Given the description of an element on the screen output the (x, y) to click on. 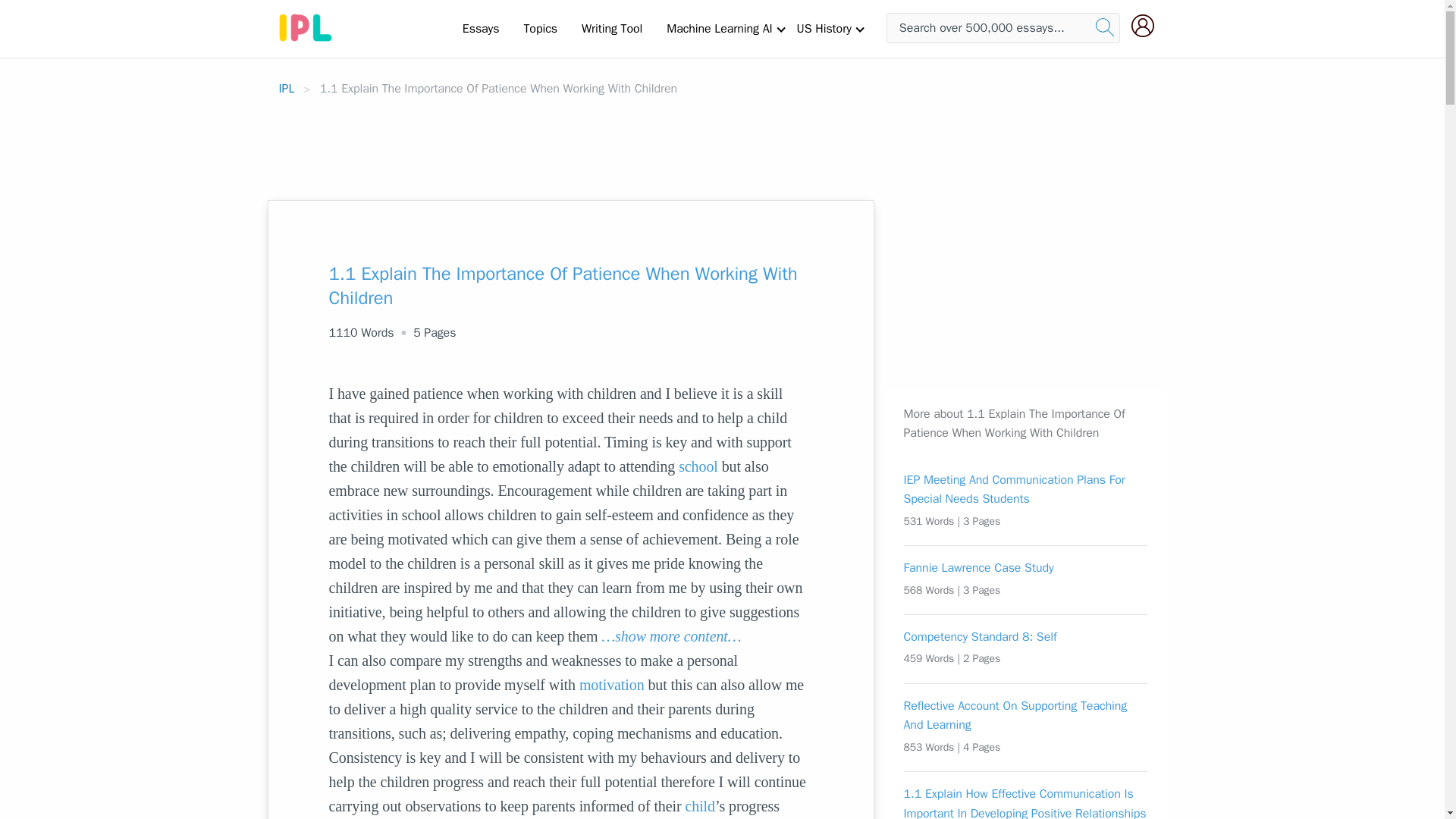
Writing Tool (611, 28)
school (697, 466)
Machine Learning AI (718, 28)
IPL (287, 88)
child (699, 805)
Essays (480, 28)
US History (823, 28)
Topics (540, 28)
motivation (612, 684)
